Given the description of an element on the screen output the (x, y) to click on. 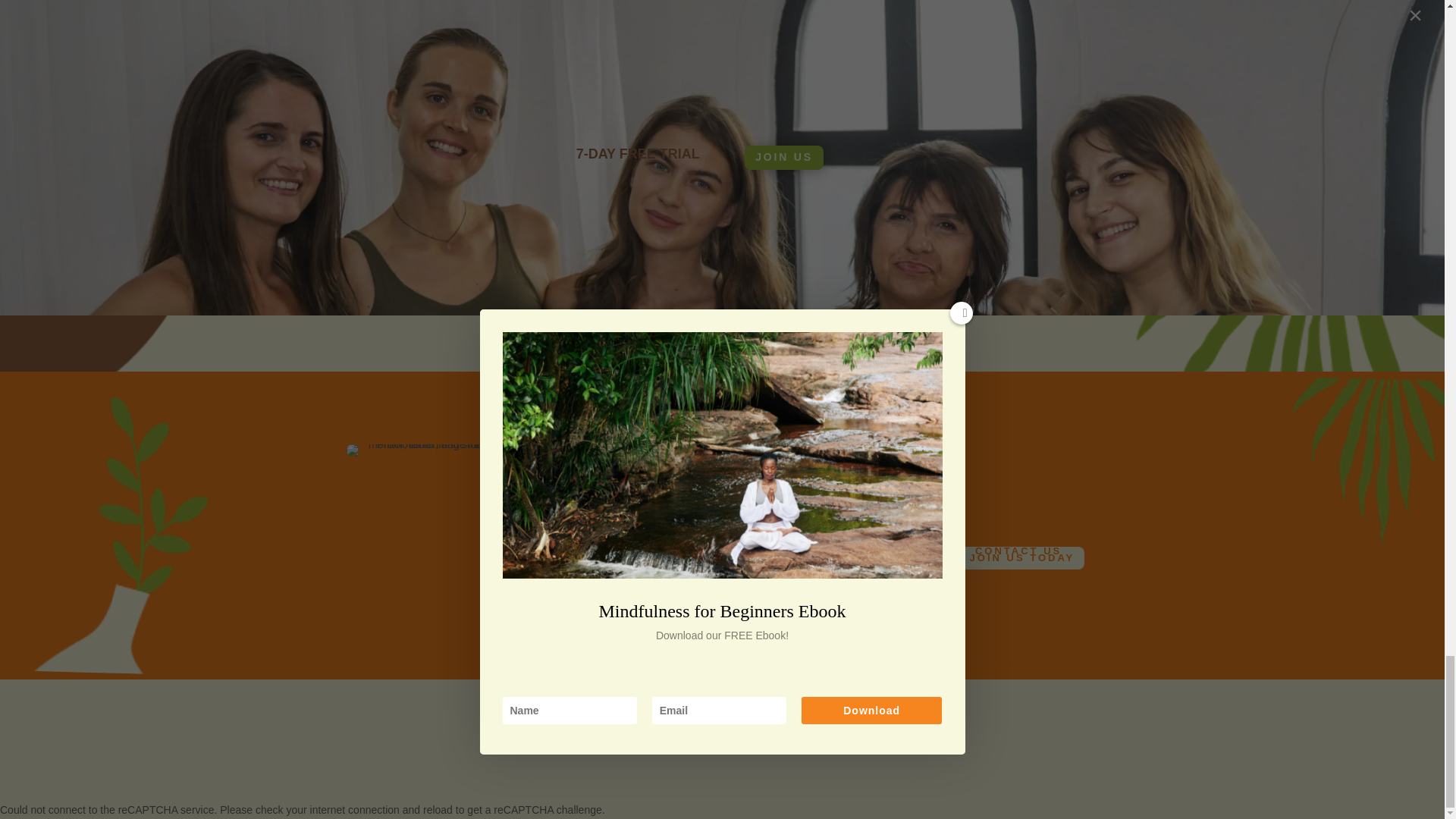
Website Footer (619, 450)
